Given the description of an element on the screen output the (x, y) to click on. 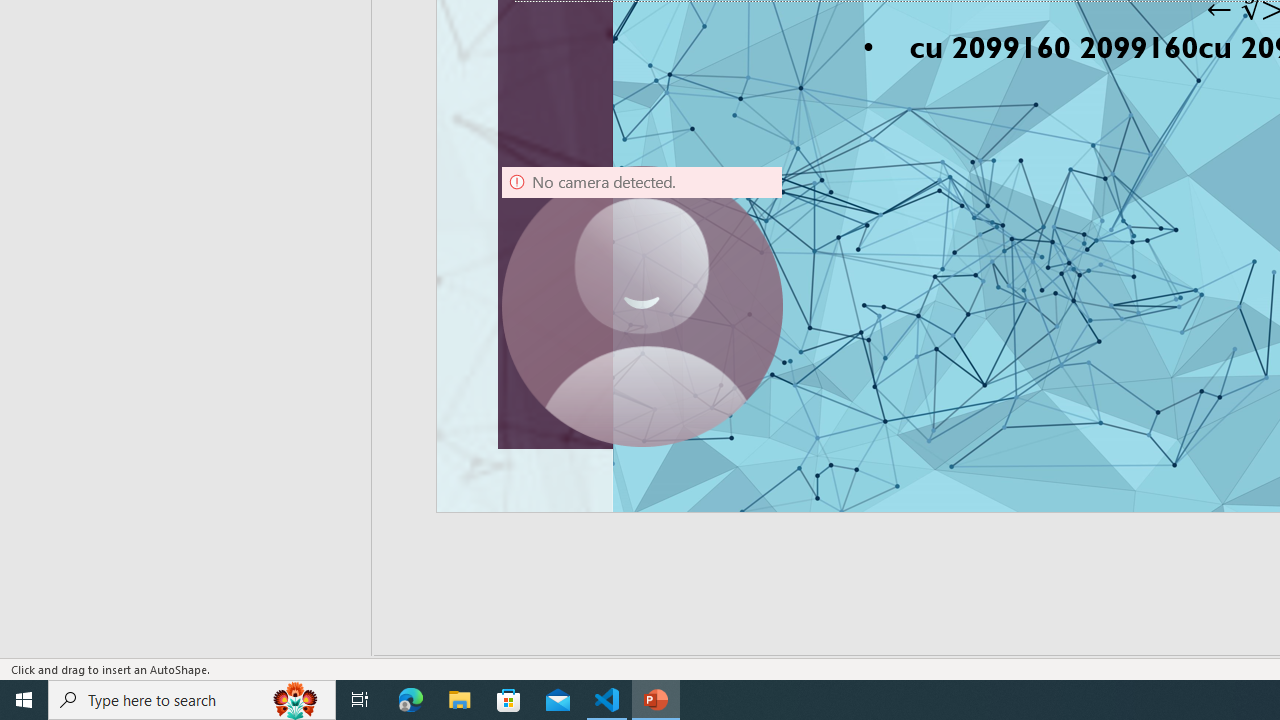
Camera 9, No camera detected. (641, 306)
